Given the description of an element on the screen output the (x, y) to click on. 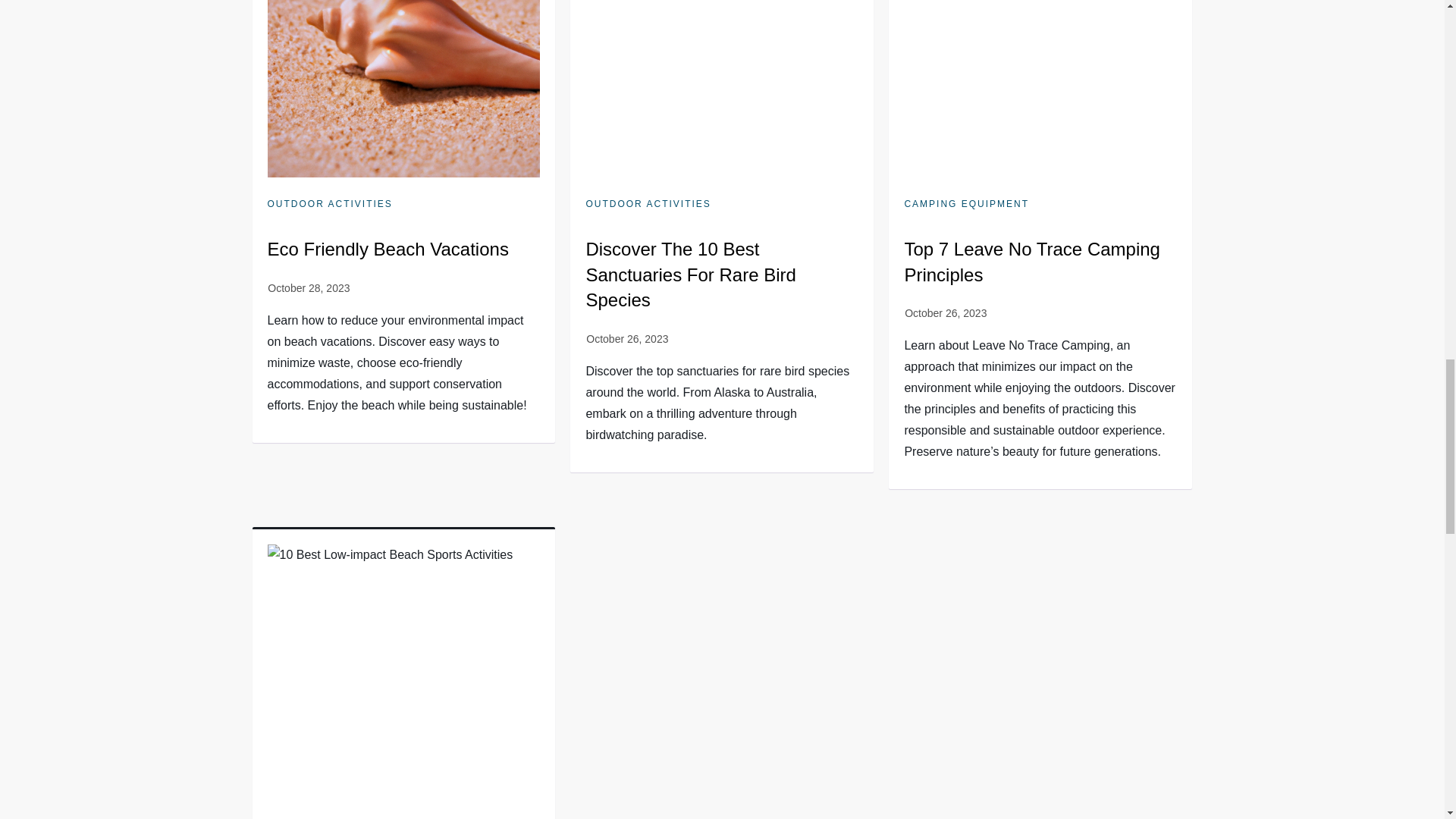
Eco Friendly Beach Vacations (387, 249)
October 28, 2023 (308, 287)
OUTDOOR ACTIVITIES (647, 204)
OUTDOOR ACTIVITIES (328, 204)
